Given the description of an element on the screen output the (x, y) to click on. 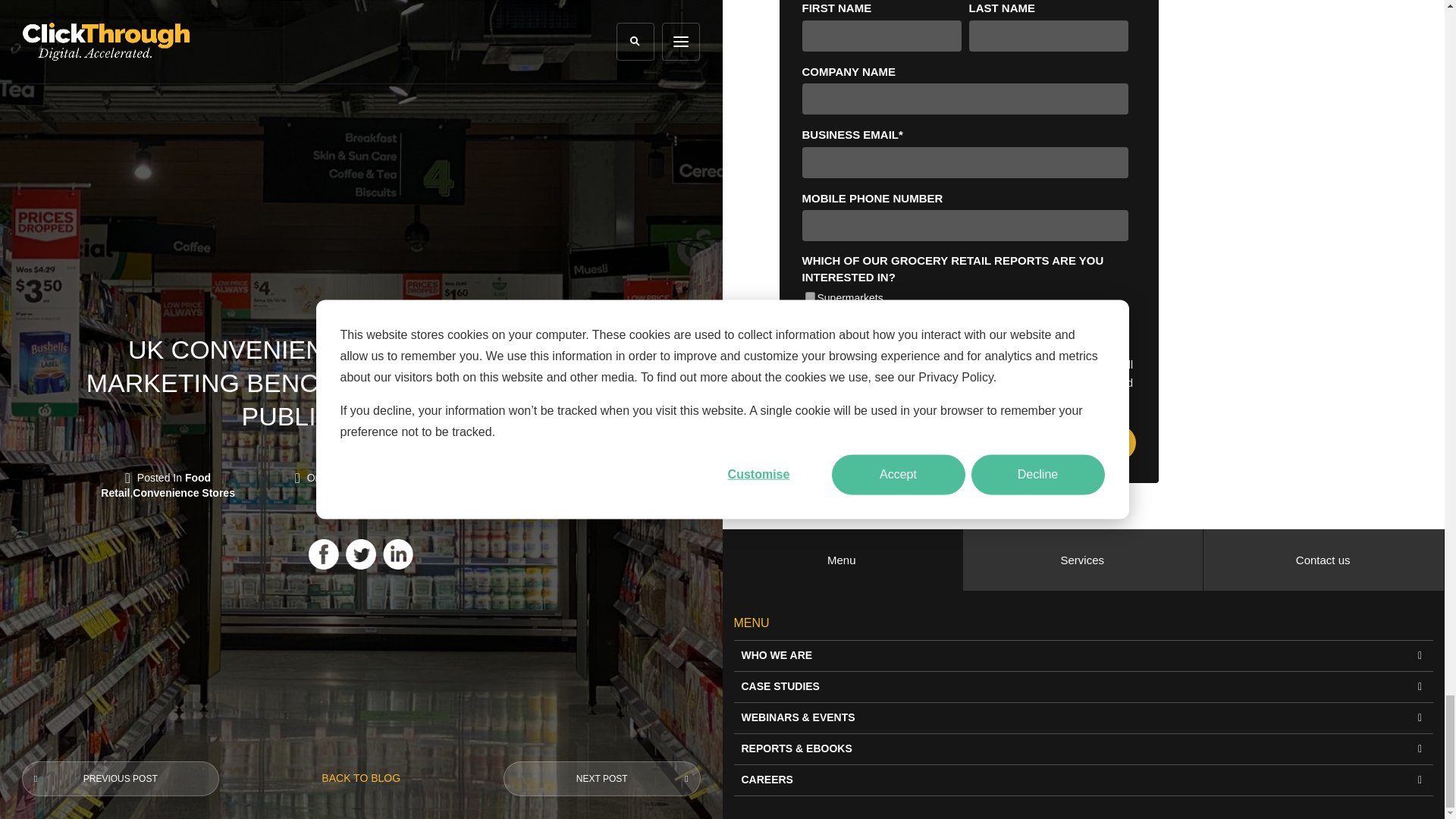
REQUEST YOUR COPY (968, 442)
Covnenience Stores (810, 315)
privacy policy (895, 400)
Food Delivery (810, 334)
Supermarkets (810, 296)
